Given the description of an element on the screen output the (x, y) to click on. 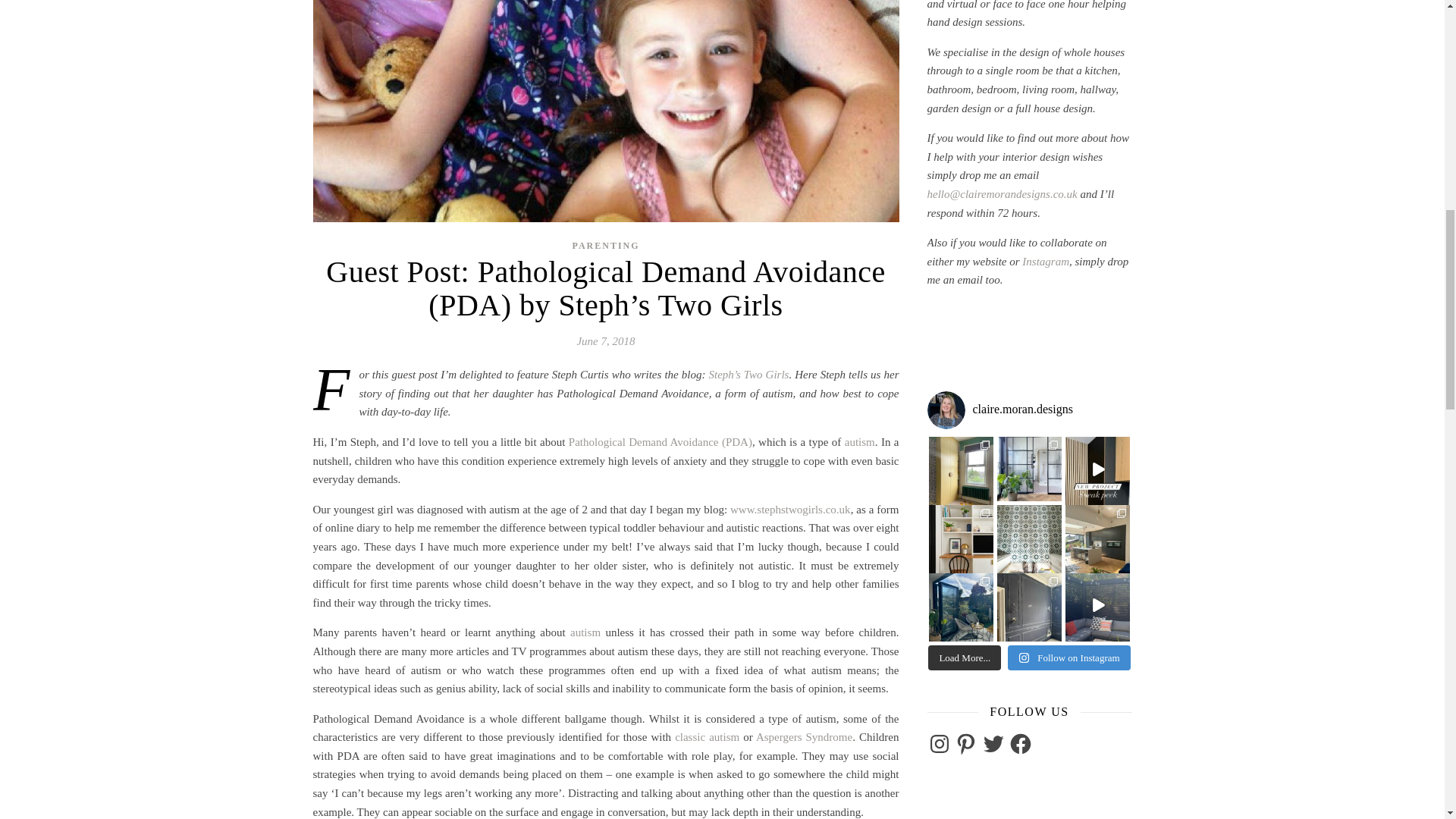
autism (584, 632)
classic autism (707, 736)
Aspergers Syndrome (803, 736)
PARENTING (605, 245)
autism (859, 441)
www.stephstwogirls.co.uk (790, 509)
